Given the description of an element on the screen output the (x, y) to click on. 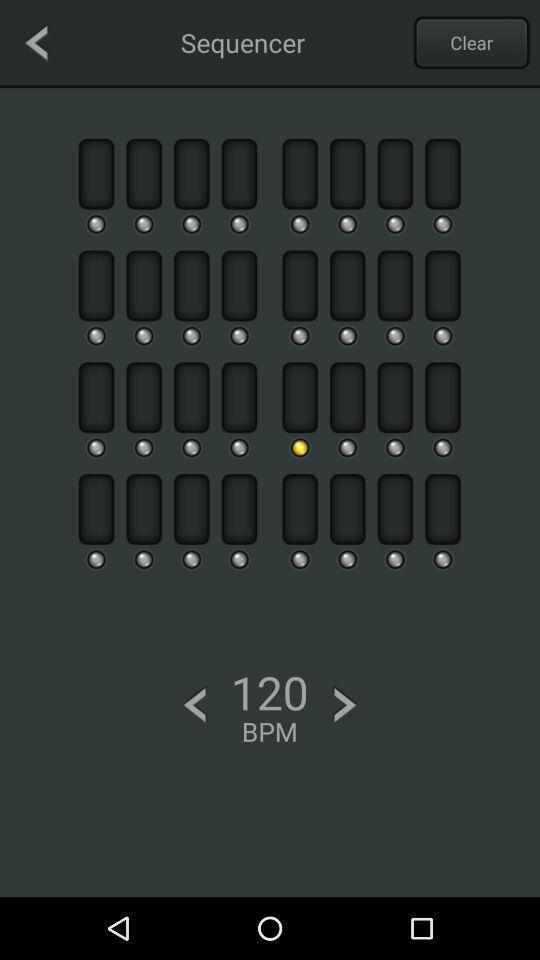
move to the next (345, 704)
